Given the description of an element on the screen output the (x, y) to click on. 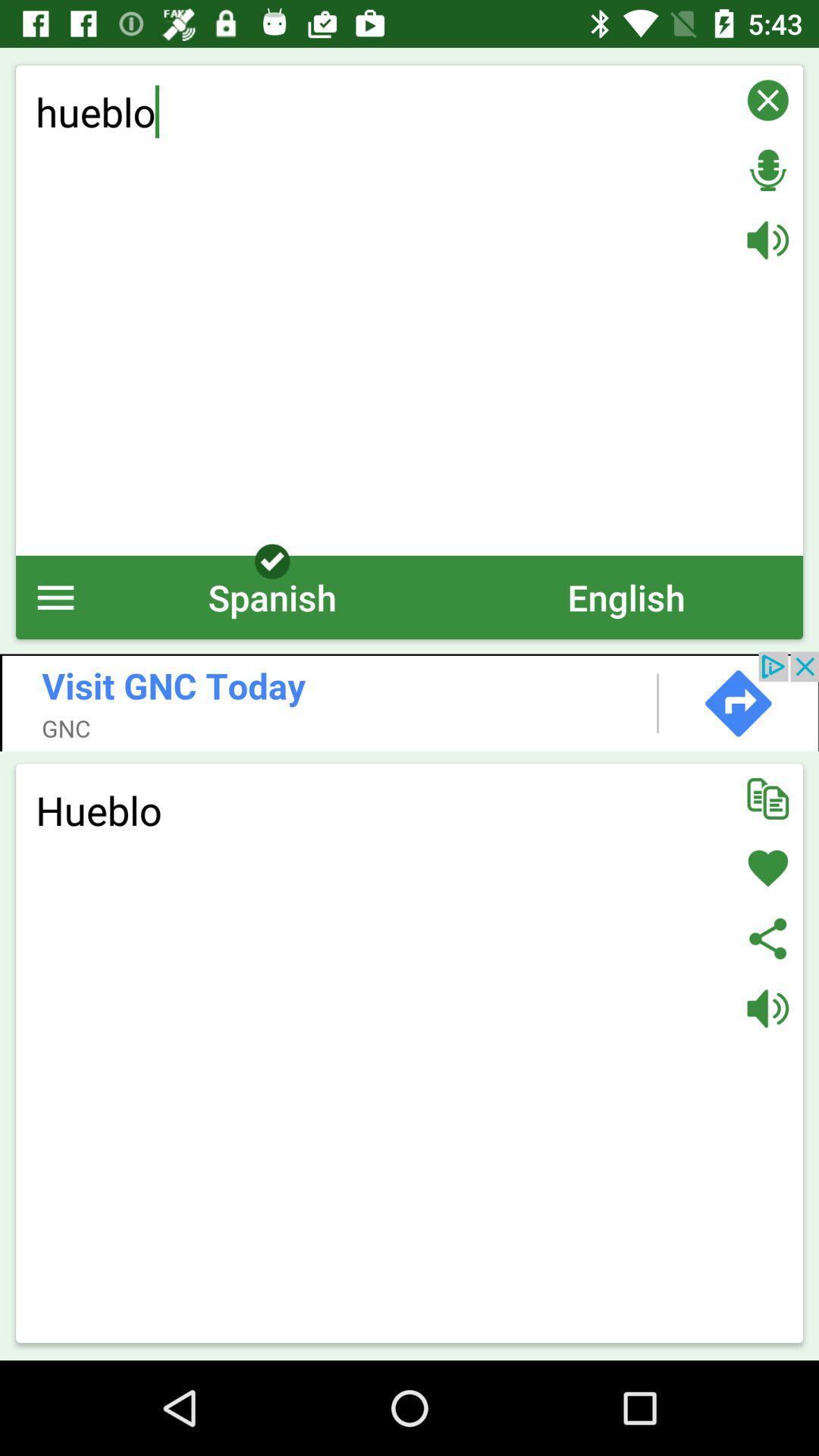
open advertisement (409, 701)
